Given the description of an element on the screen output the (x, y) to click on. 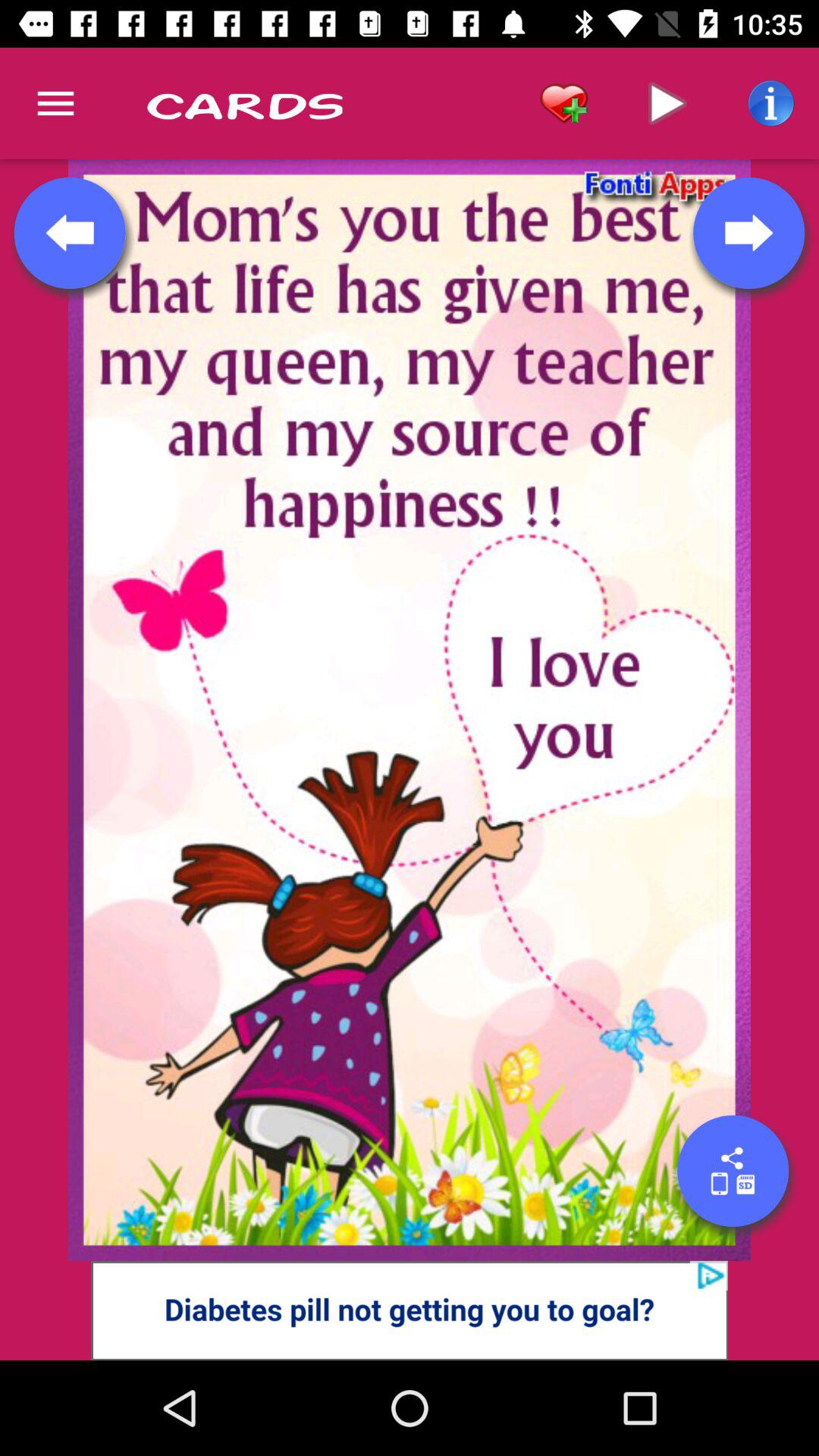
go back (69, 233)
